Given the description of an element on the screen output the (x, y) to click on. 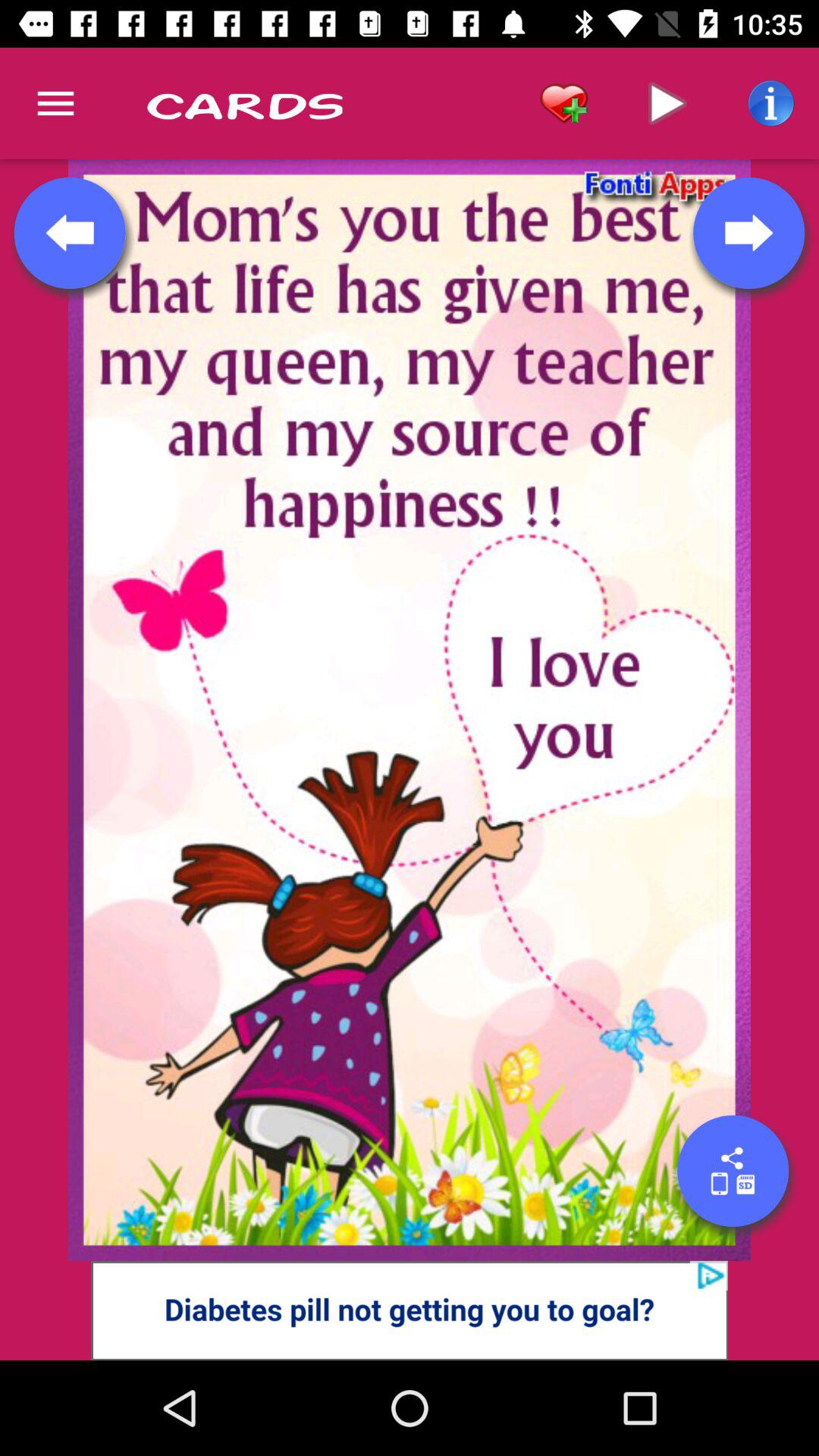
go back (69, 233)
